Given the description of an element on the screen output the (x, y) to click on. 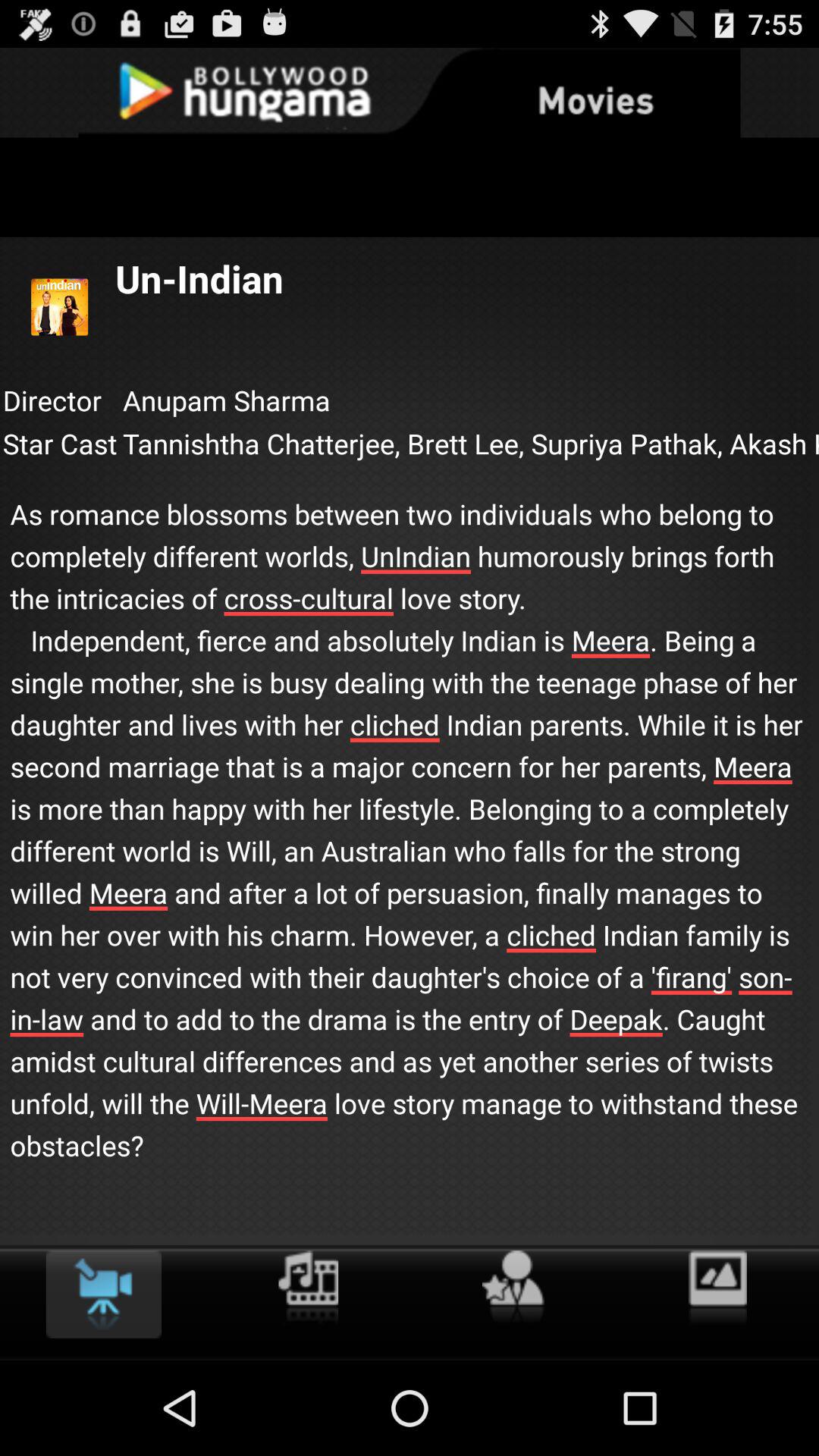
tap the as romance blossoms icon (409, 814)
